Given the description of an element on the screen output the (x, y) to click on. 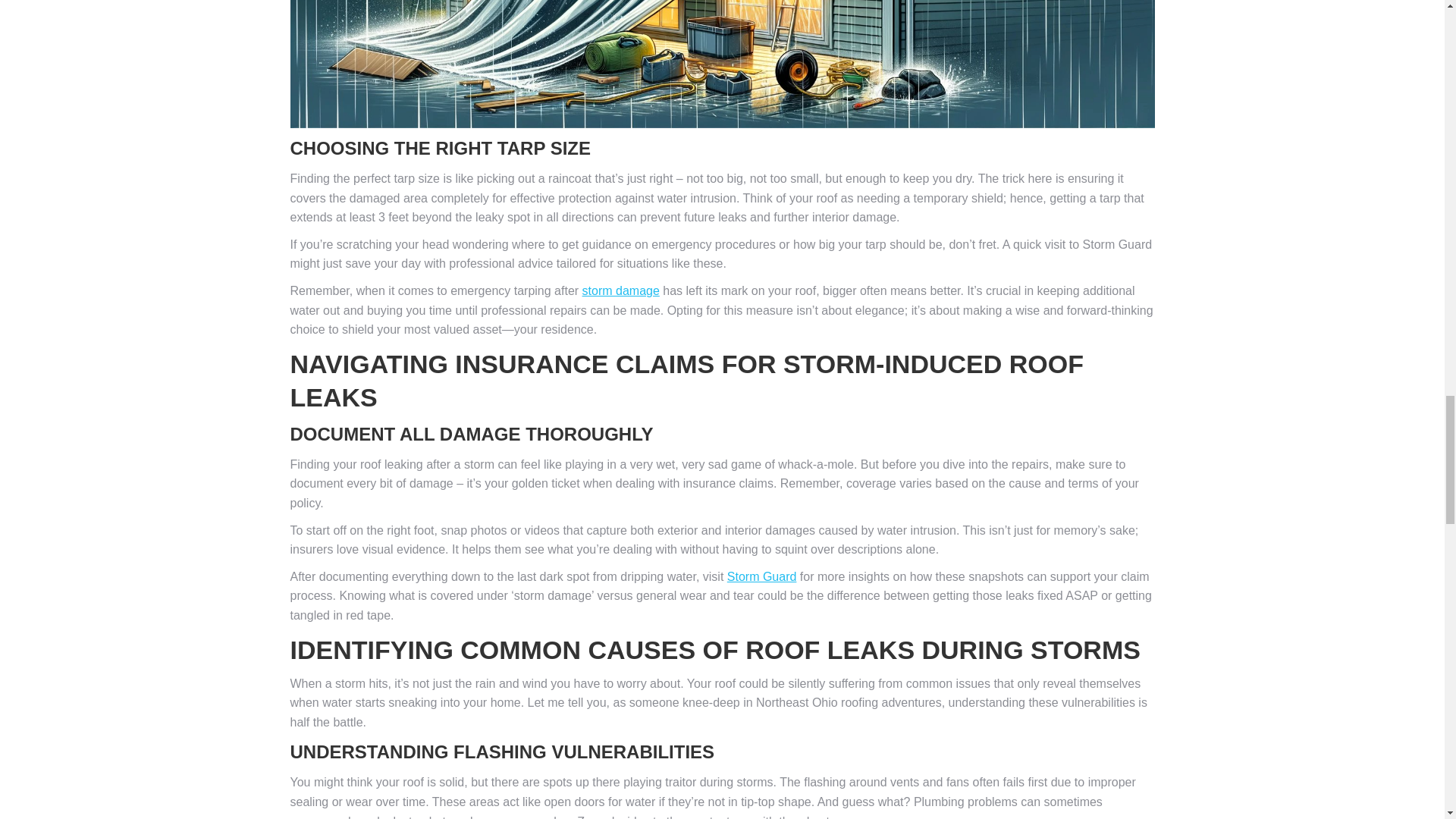
Storm Damage (620, 290)
